Given the description of an element on the screen output the (x, y) to click on. 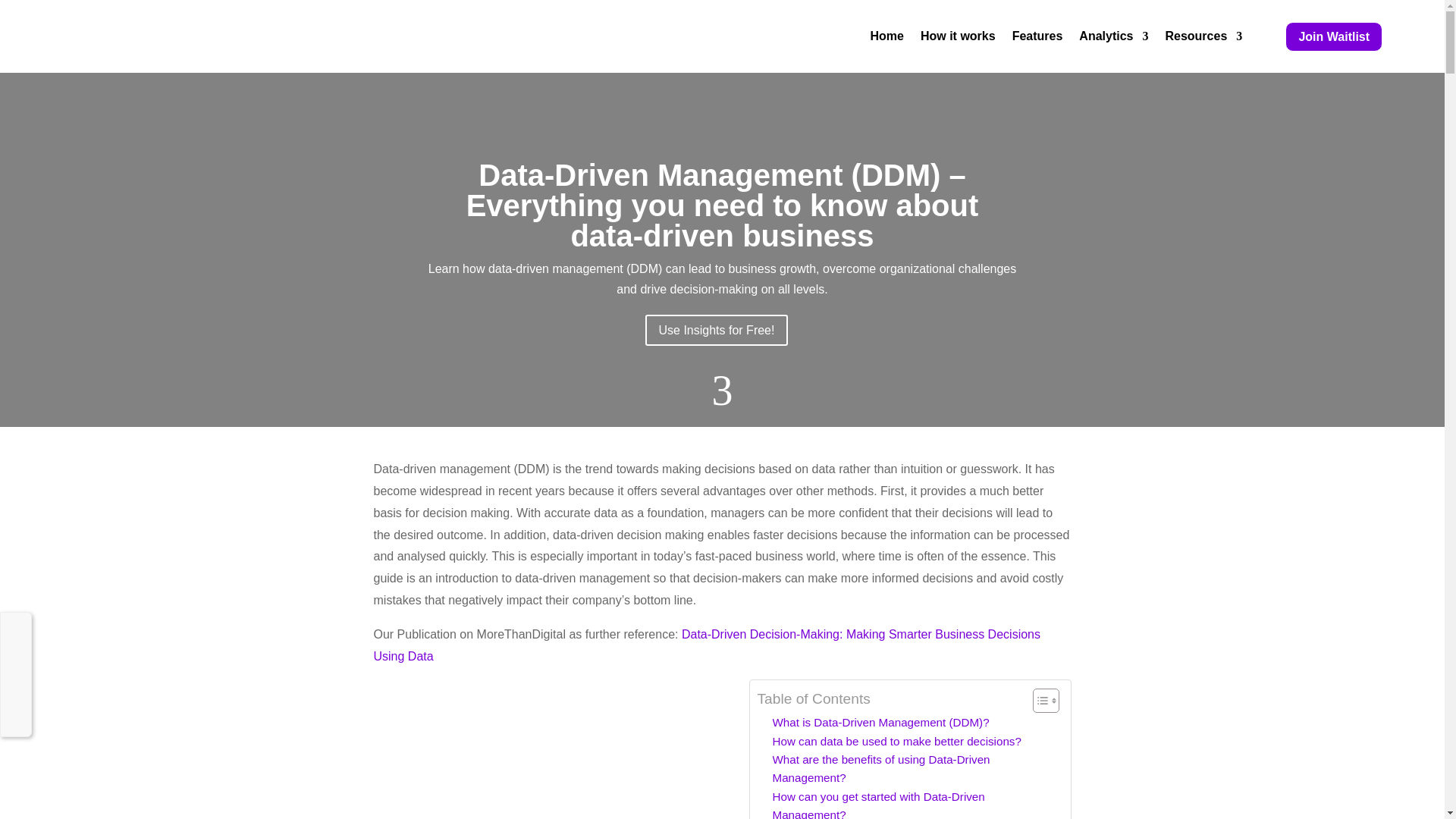
Resources (1202, 36)
Join Waitlist (1333, 36)
Home (885, 36)
3 (721, 390)
How it works (957, 36)
How can data be used to make better decisions? (895, 741)
How can you get started with Data-Driven Management? (912, 803)
Analytics (1113, 36)
Features (1036, 36)
3 (721, 390)
What are the benefits of using Data-Driven Management? (912, 769)
